Given the description of an element on the screen output the (x, y) to click on. 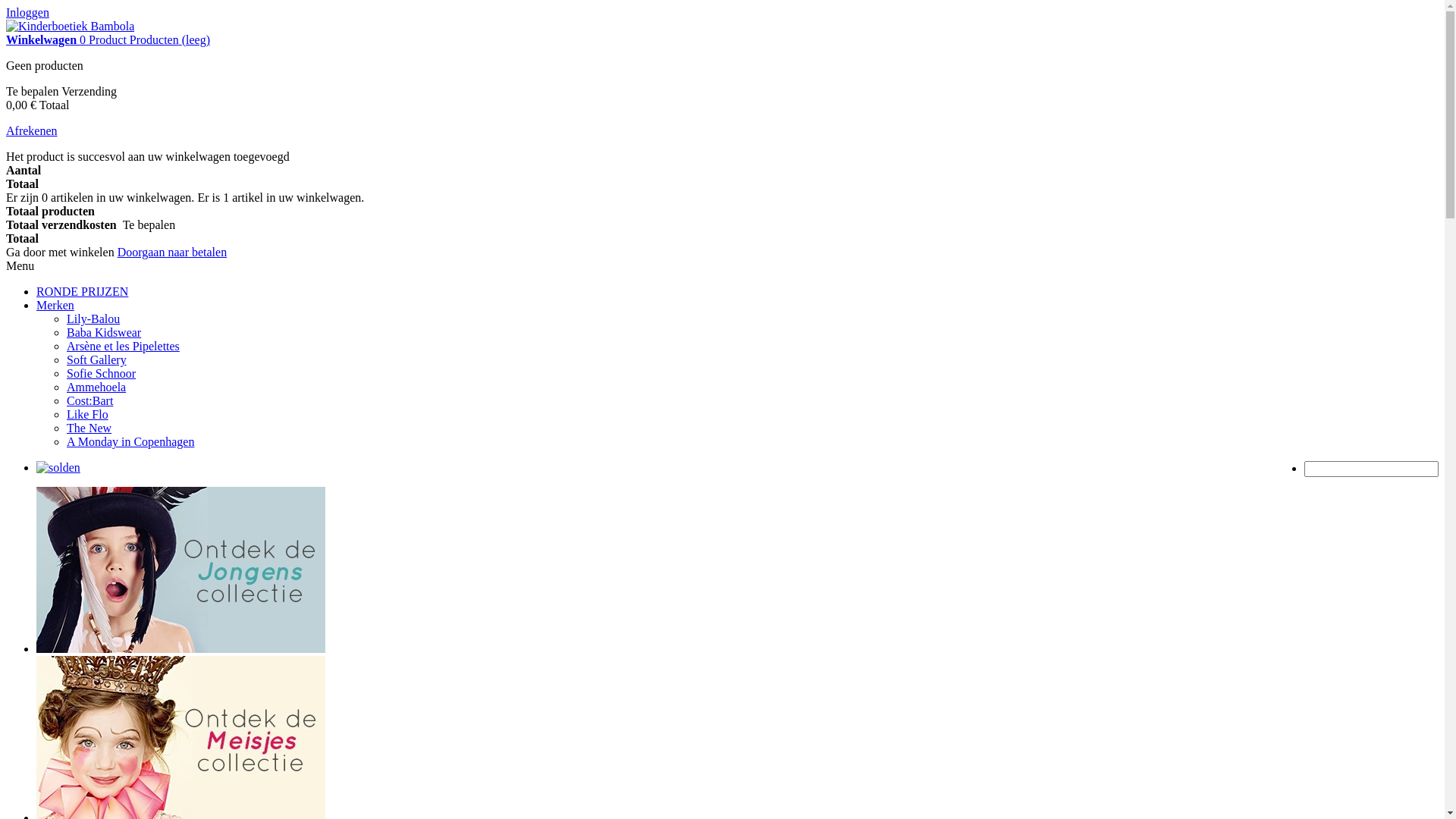
Lily-Balou Element type: text (92, 318)
Inloggen Element type: text (27, 12)
solden Element type: hover (58, 467)
Sofie Schnoor Element type: text (100, 373)
Baba Kidswear Element type: text (103, 332)
Kinderboetiek Bambola Element type: hover (70, 25)
A Monday in Copenhagen Element type: text (130, 441)
Winkelwagen 0 Product Producten (leeg) Element type: text (108, 39)
RONDE PRIJZEN Element type: text (82, 291)
Like Flo Element type: text (87, 413)
Afrekenen Element type: text (31, 130)
Cost:Bart Element type: text (89, 400)
Ammehoela Element type: text (95, 386)
Soft Gallery Element type: text (96, 359)
The New Element type: text (88, 427)
Merken Element type: text (55, 304)
Doorgaan naar betalen Element type: text (172, 251)
